Given the description of an element on the screen output the (x, y) to click on. 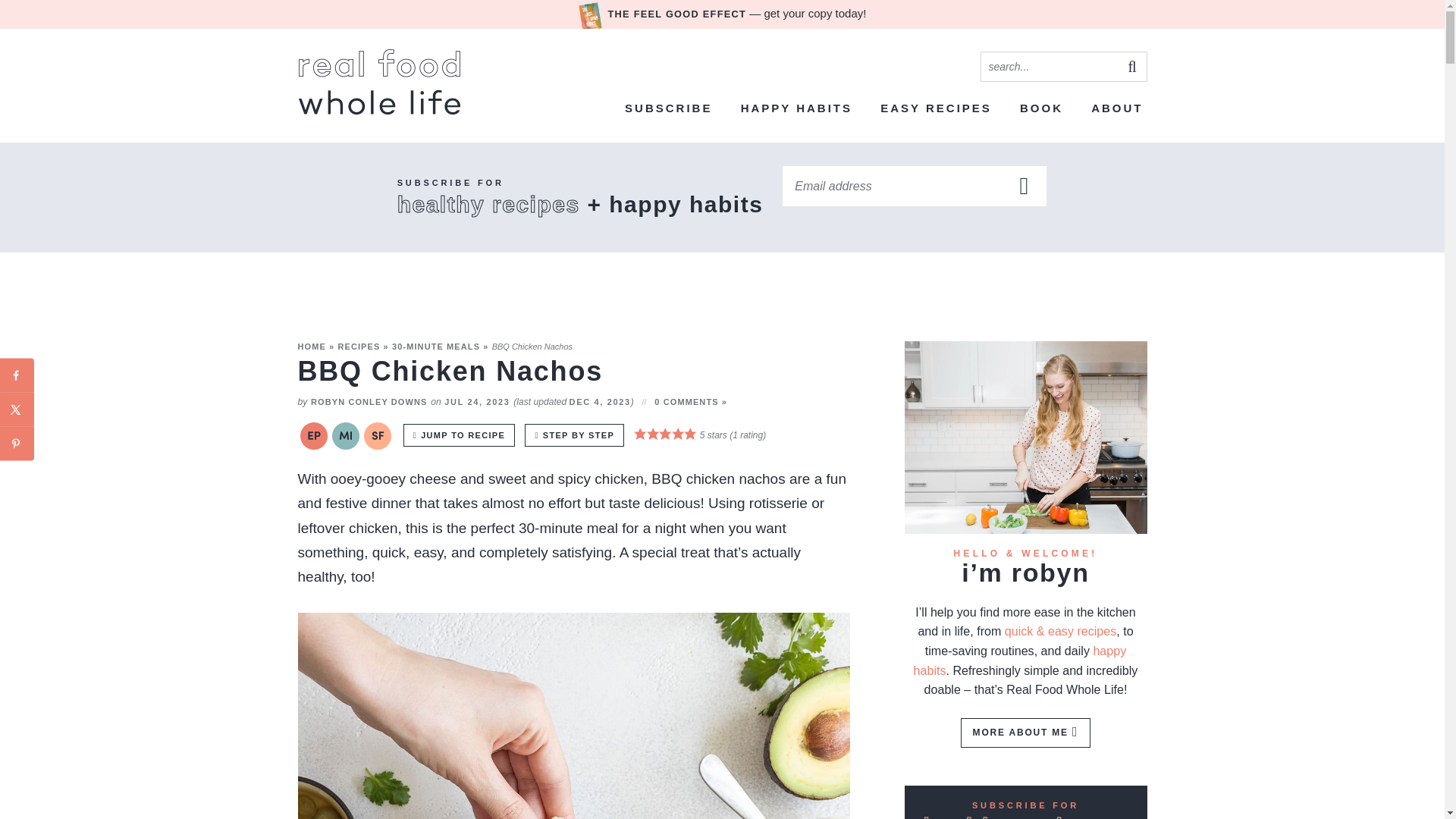
Save to Pinterest (16, 442)
More About Me (1025, 437)
Share on X (16, 409)
Real Food Whole Life (379, 81)
Share on Facebook (16, 374)
